Given the description of an element on the screen output the (x, y) to click on. 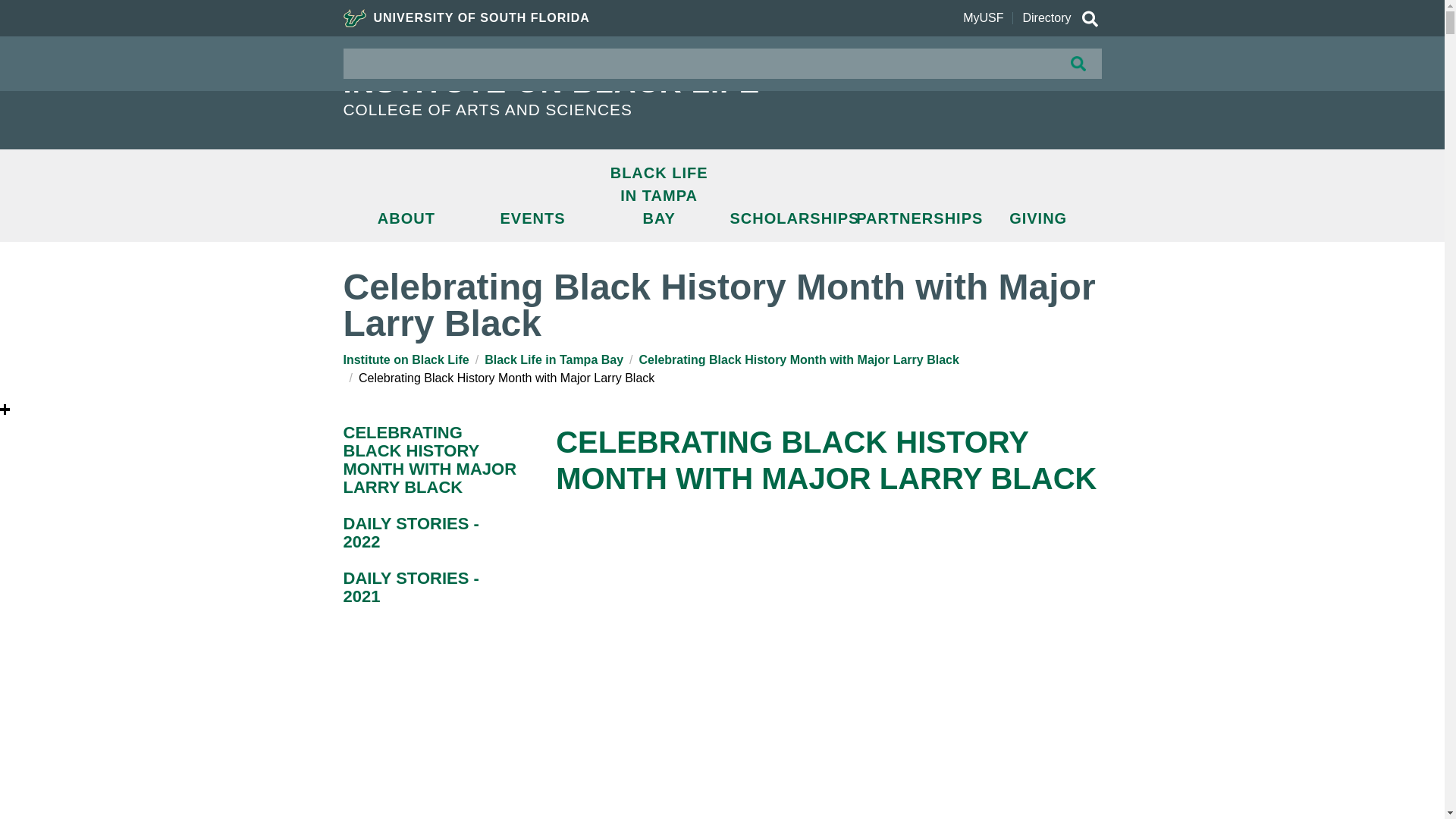
SCHOLARSHIPS (785, 217)
DAILY STORIES - 2022 (430, 533)
UNIVERSITY OF SOUTH FLORIDA (465, 18)
EVENTS (531, 217)
MyUSF (982, 18)
ABOUT (405, 217)
PARTNERSHIPS (911, 217)
Daily Stories - 2022 (430, 533)
DAILY STORIES - 2021 (430, 587)
Institute on Black Life (405, 359)
INSTITUTE ON BLACK LIFE (607, 81)
Directory (1046, 18)
Black Life in Tampa Bay (553, 359)
Celebrating Black History Month with Major Larry Black (799, 359)
COLLEGE OF ARTS AND SCIENCES (607, 109)
